Given the description of an element on the screen output the (x, y) to click on. 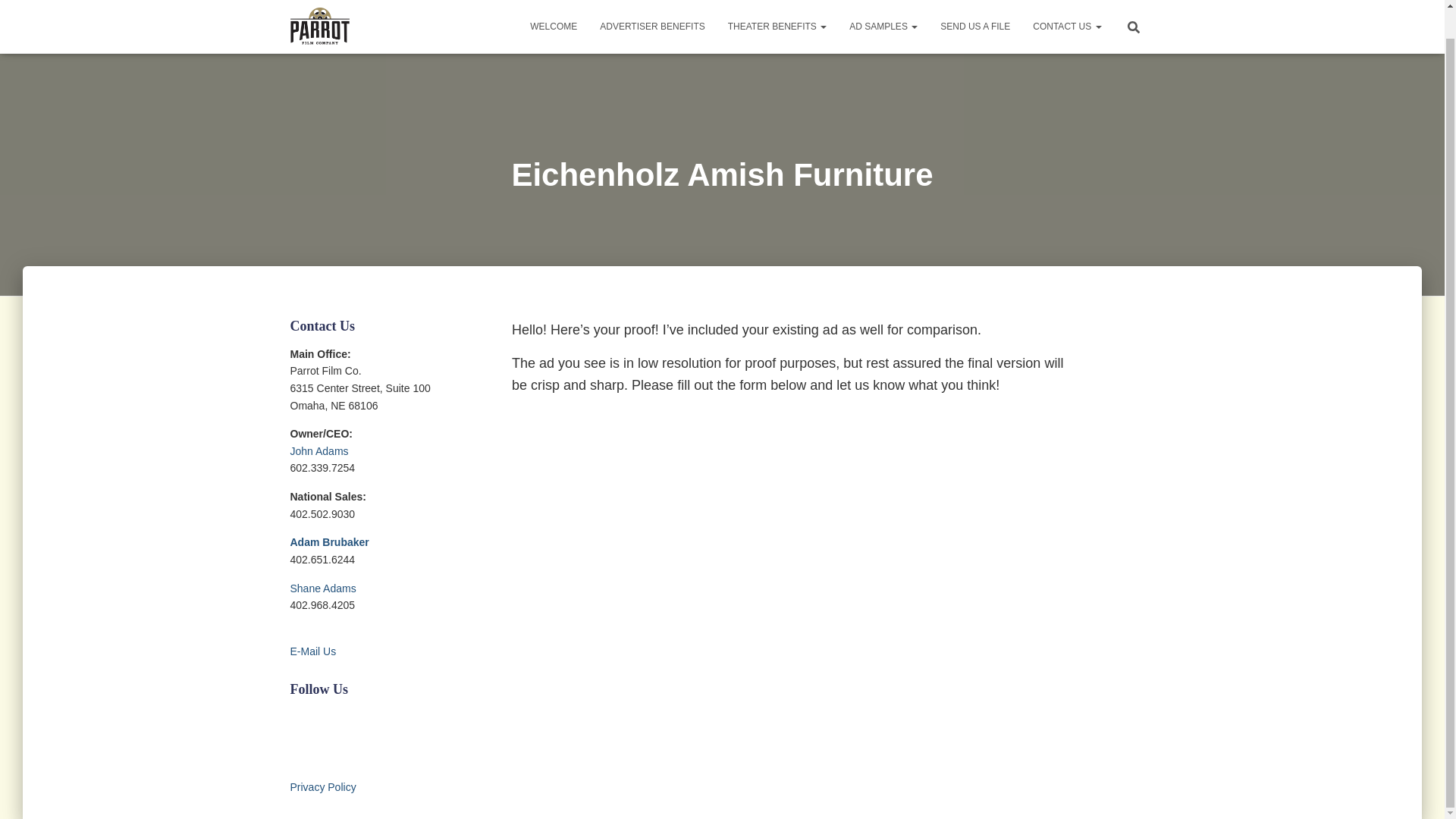
Privacy Policy (322, 787)
Contact Us (1067, 8)
CONTACT US (1067, 8)
Shane Adams (322, 588)
John Adams (318, 451)
SEND US A FILE (975, 8)
WELCOME (553, 8)
Vimeo (320, 718)
Search (16, 2)
THEATER BENEFITS (777, 8)
